Given the description of an element on the screen output the (x, y) to click on. 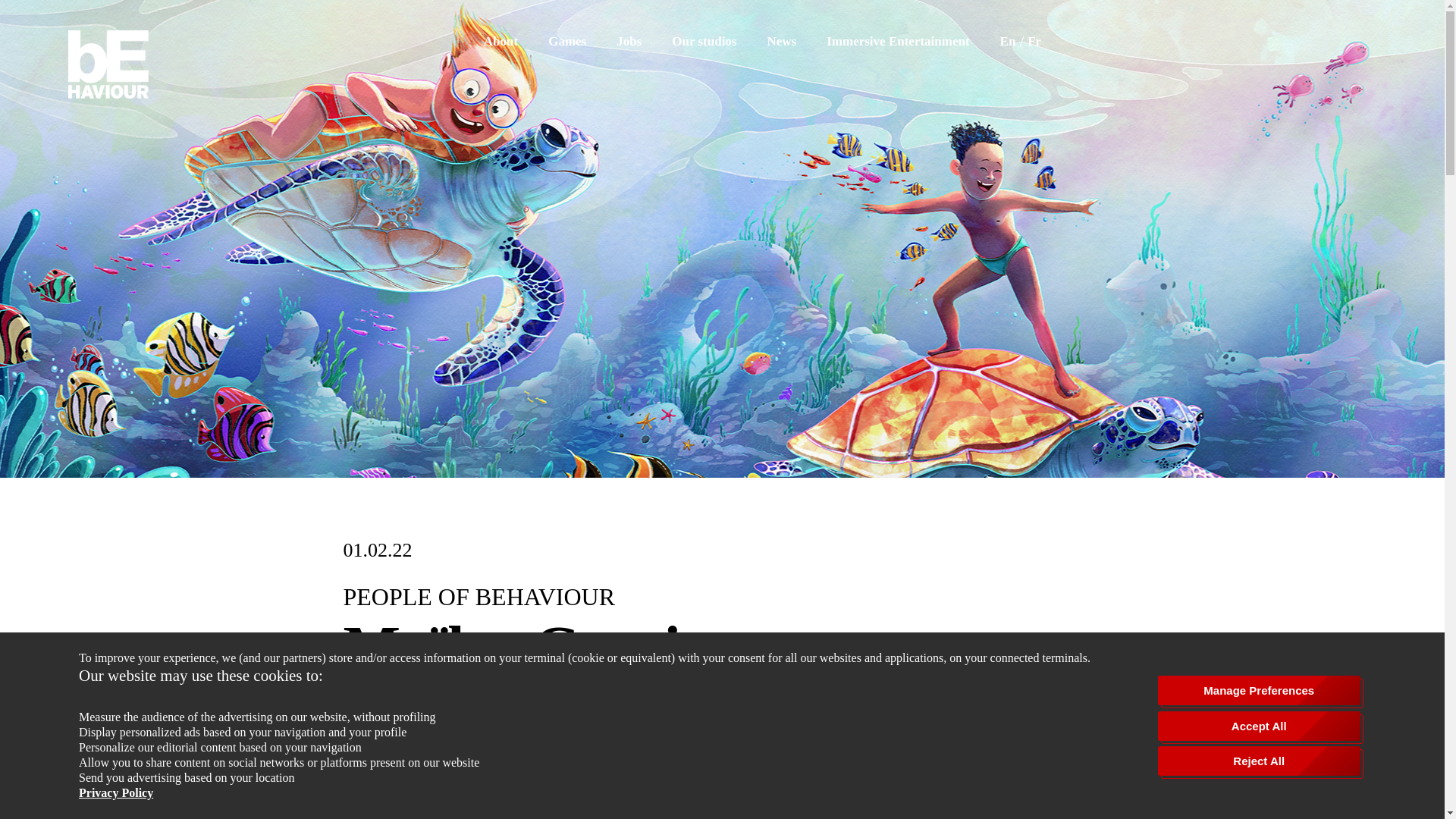
Jobs (628, 41)
Manage Preferences (1258, 690)
About (500, 41)
Reject All (1258, 760)
Accept All (1258, 726)
News (781, 41)
Games (567, 41)
Immersive Entertainment (898, 41)
Privacy Policy (115, 792)
Our studios (703, 41)
